Given the description of an element on the screen output the (x, y) to click on. 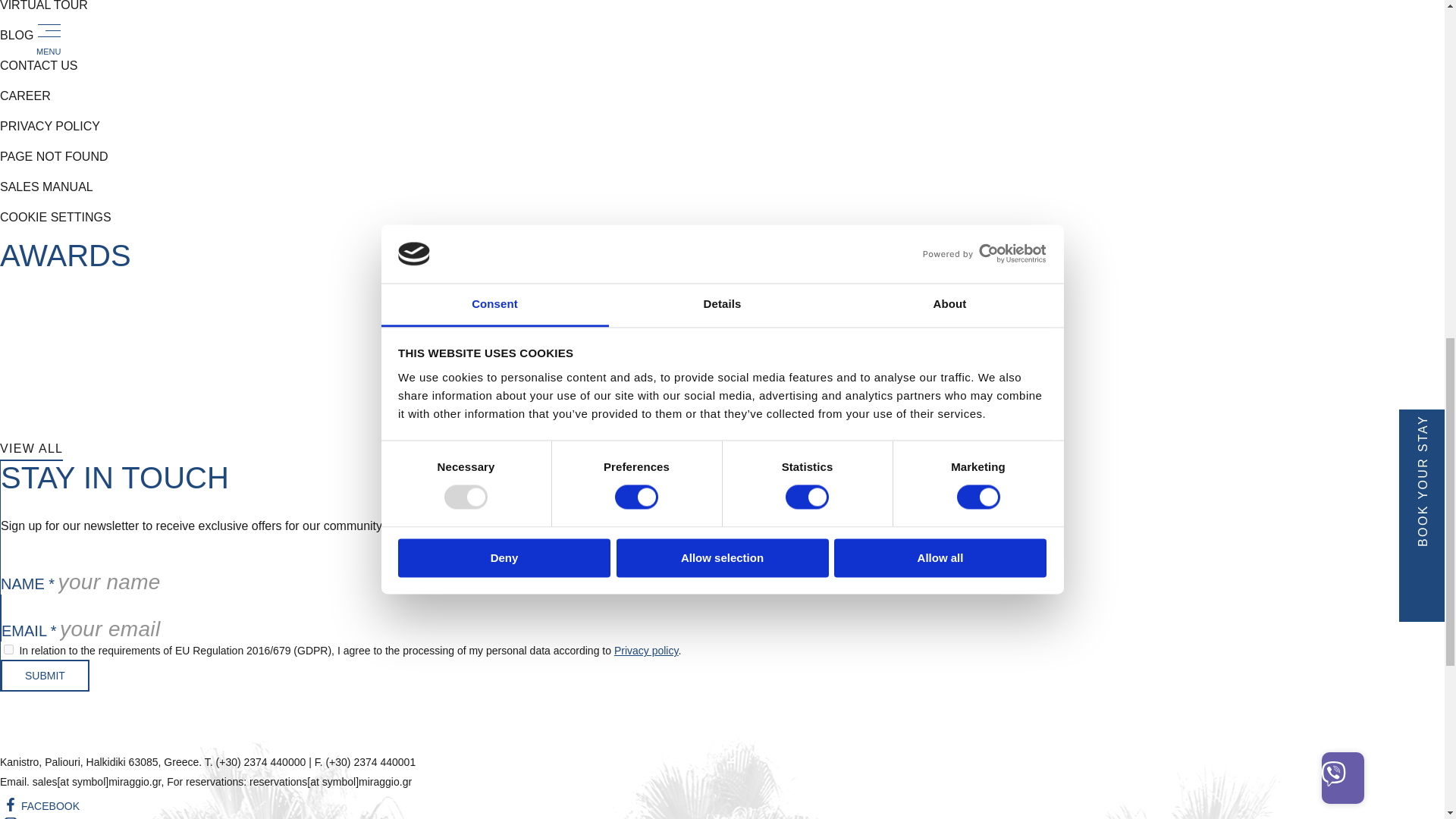
Luxury Lifestyle Awards 2024 (706, 381)
true (8, 649)
VIEW ALL (31, 448)
